Given the description of an element on the screen output the (x, y) to click on. 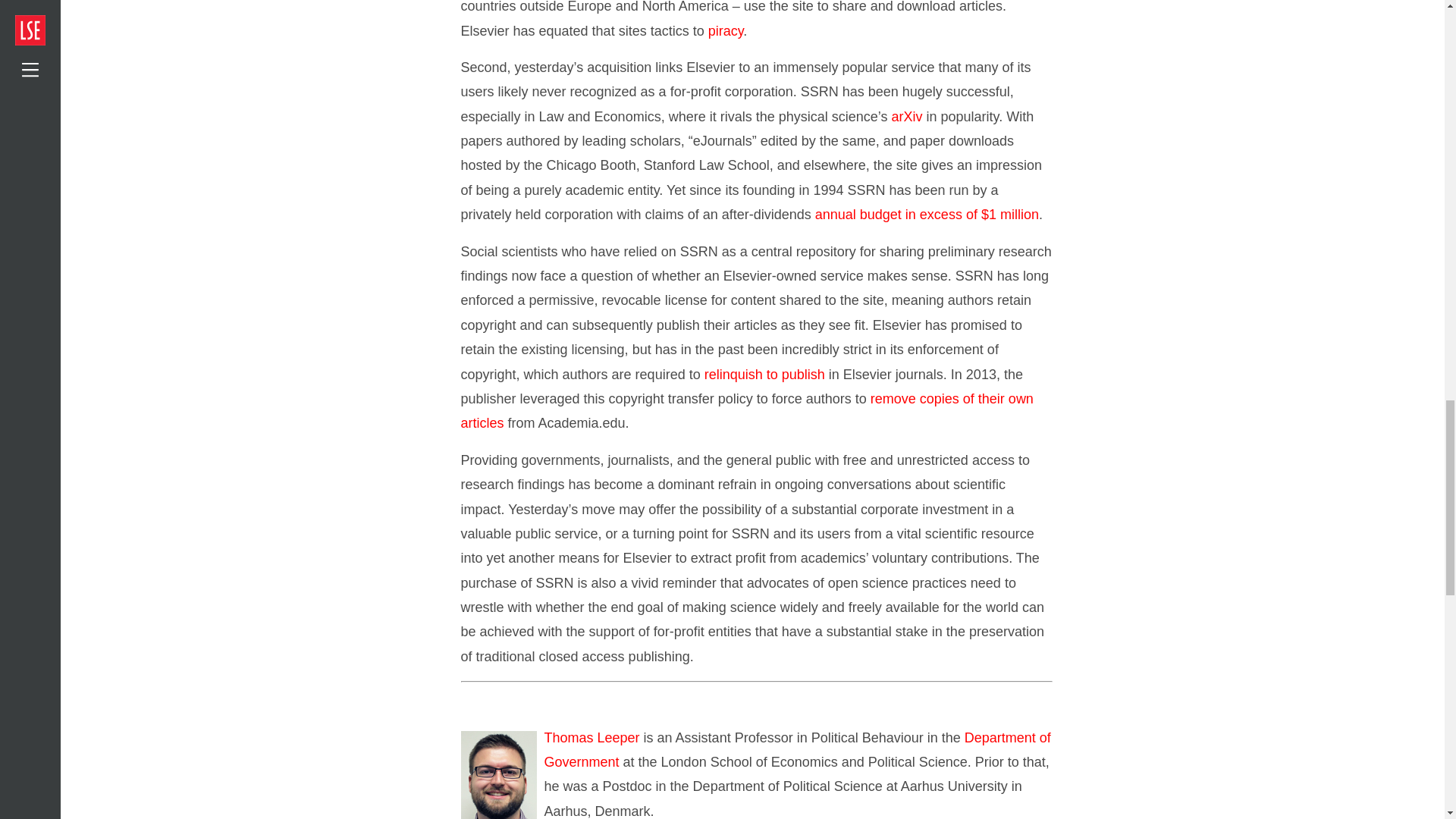
piracy (725, 29)
remove copies of their own articles (747, 410)
Thomas Leeper (592, 737)
relinquish to publish (764, 374)
Department of Government (797, 749)
arXiv (906, 116)
